Given the description of an element on the screen output the (x, y) to click on. 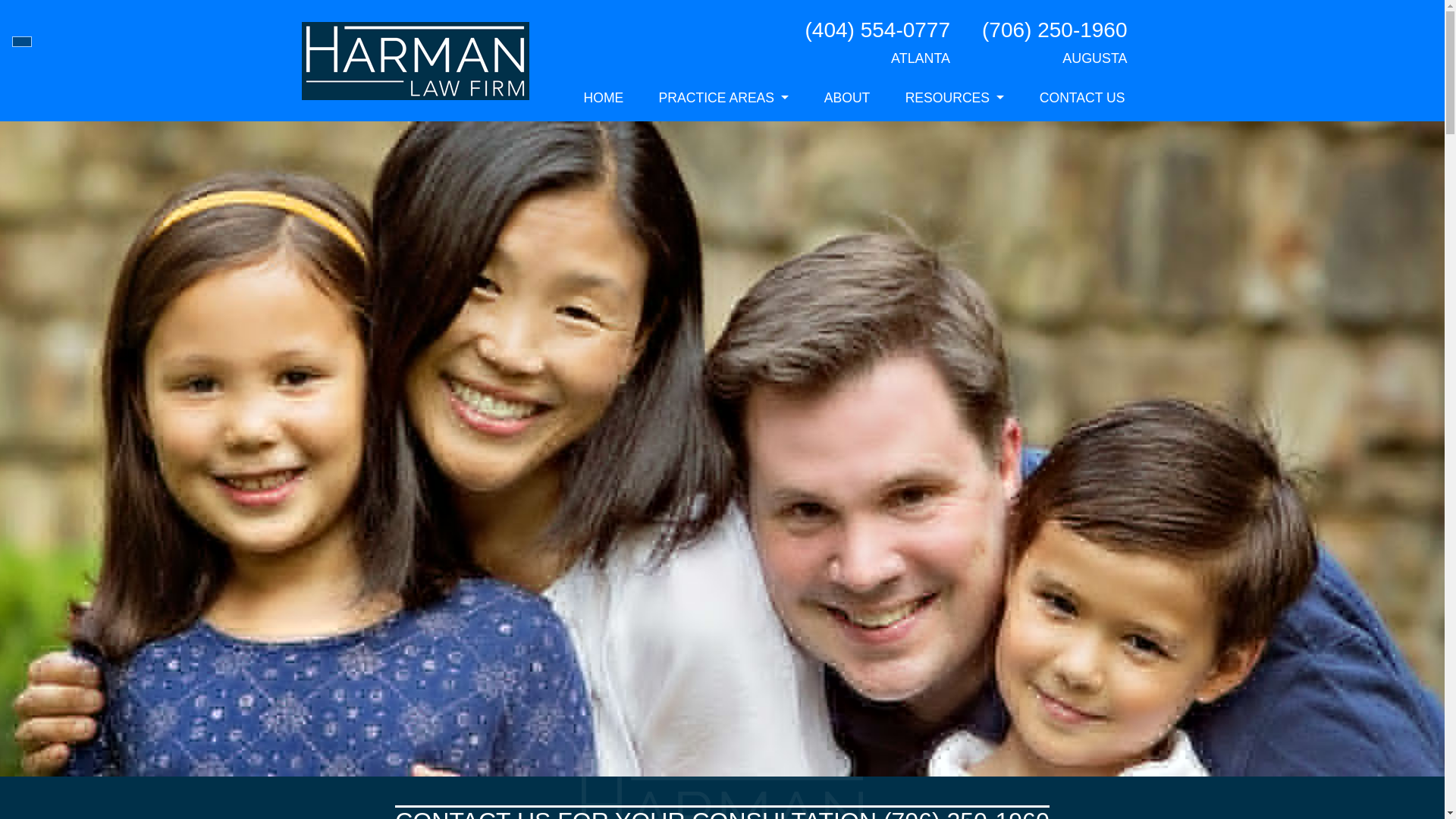
PRACTICE AREAS (723, 98)
RESOURCES (954, 98)
Skip to main content (10, 5)
ABOUT (847, 98)
HOME (604, 98)
CONTACT US (1082, 98)
Switch to high color contrast version of the website (21, 41)
